Given the description of an element on the screen output the (x, y) to click on. 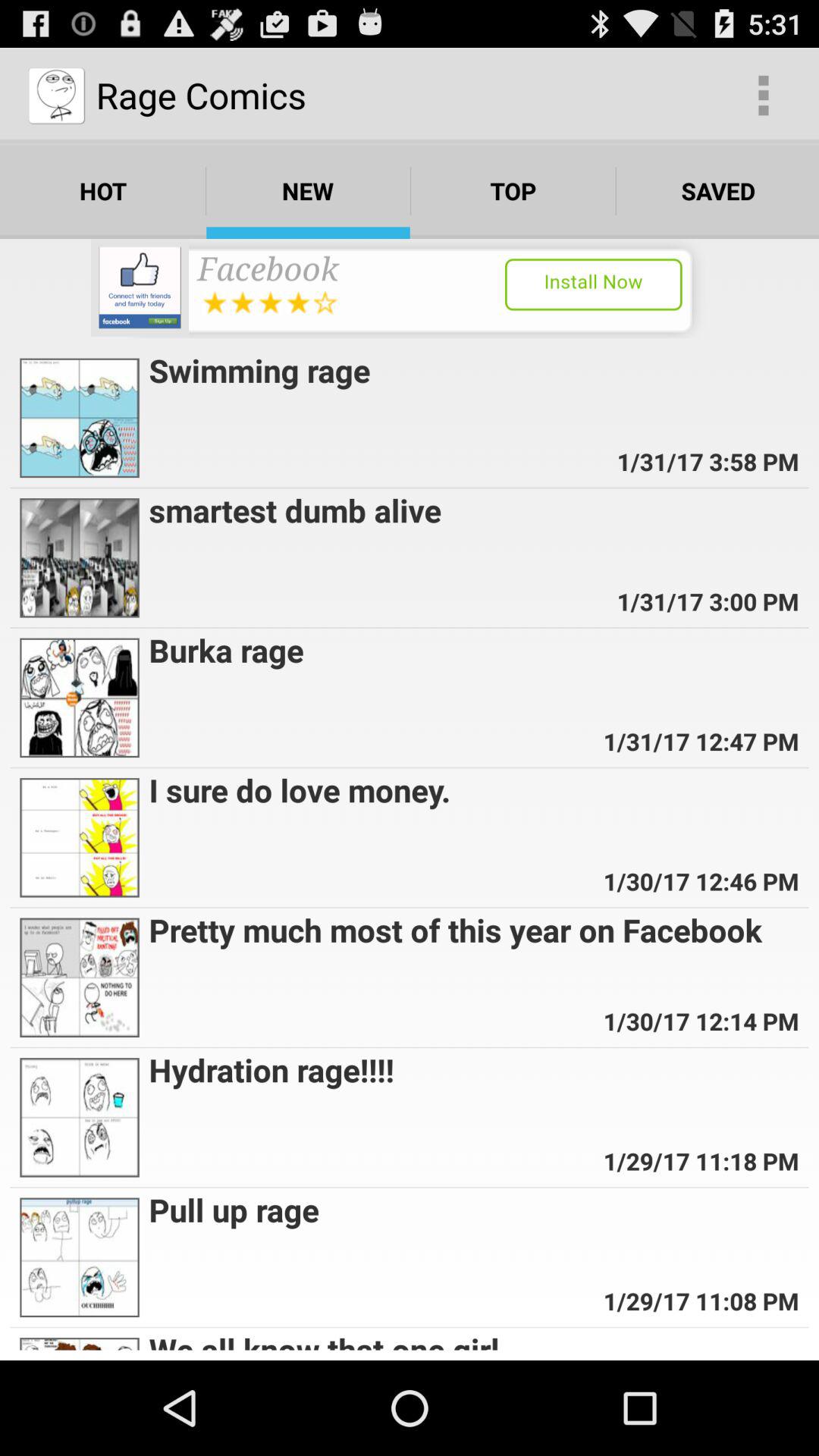
advertisement (409, 288)
